Given the description of an element on the screen output the (x, y) to click on. 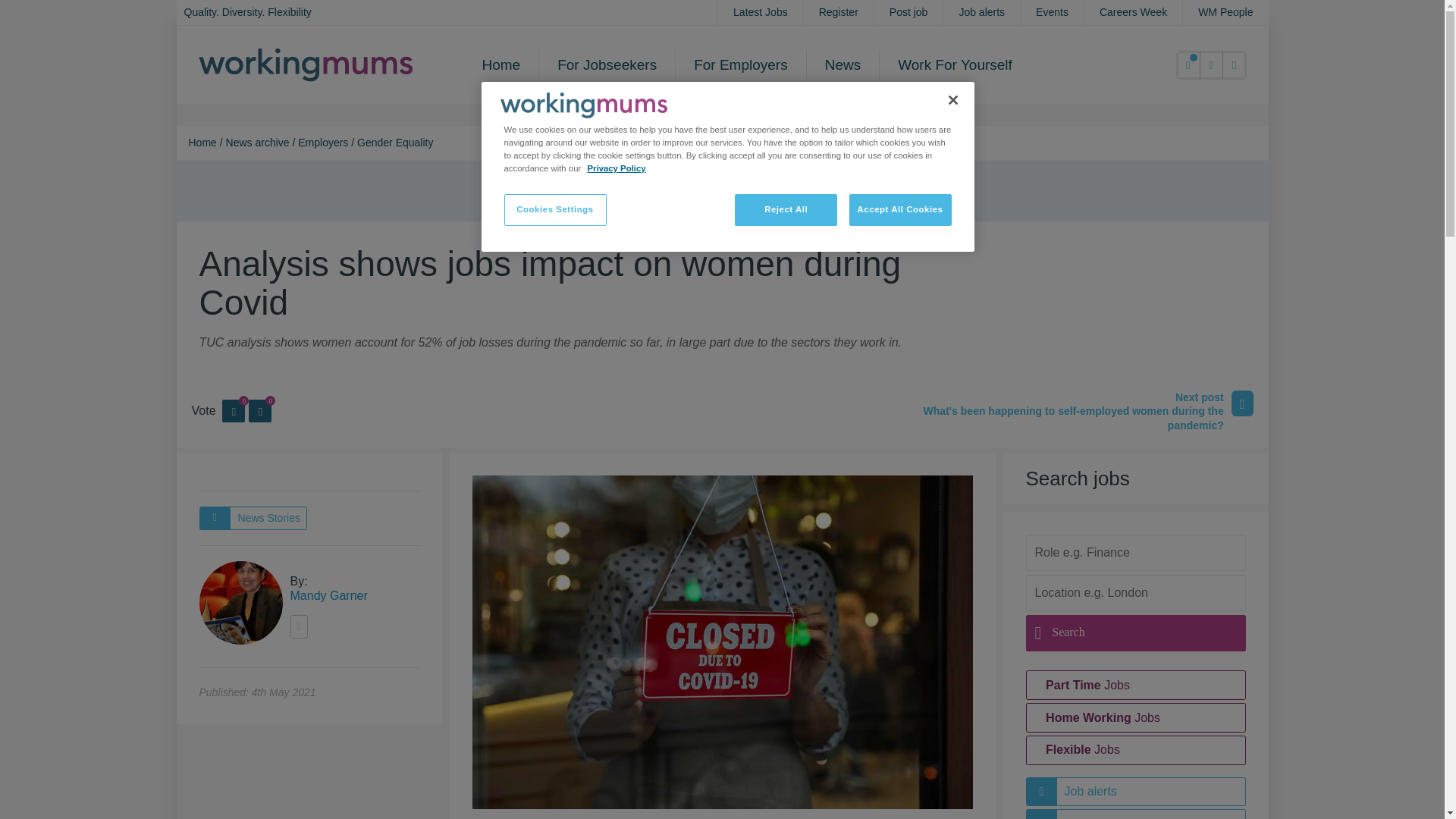
Job alerts (981, 12)
News (842, 64)
Work For Yourself (954, 64)
Events (1051, 12)
Careers Week (1133, 12)
For Jobseekers (606, 64)
Latest Jobs (760, 12)
For Employers (740, 64)
Working Dads (583, 104)
WM People (1225, 12)
Register (838, 12)
Post job (909, 12)
Home (501, 64)
workingmums.co.uk (305, 63)
